Given the description of an element on the screen output the (x, y) to click on. 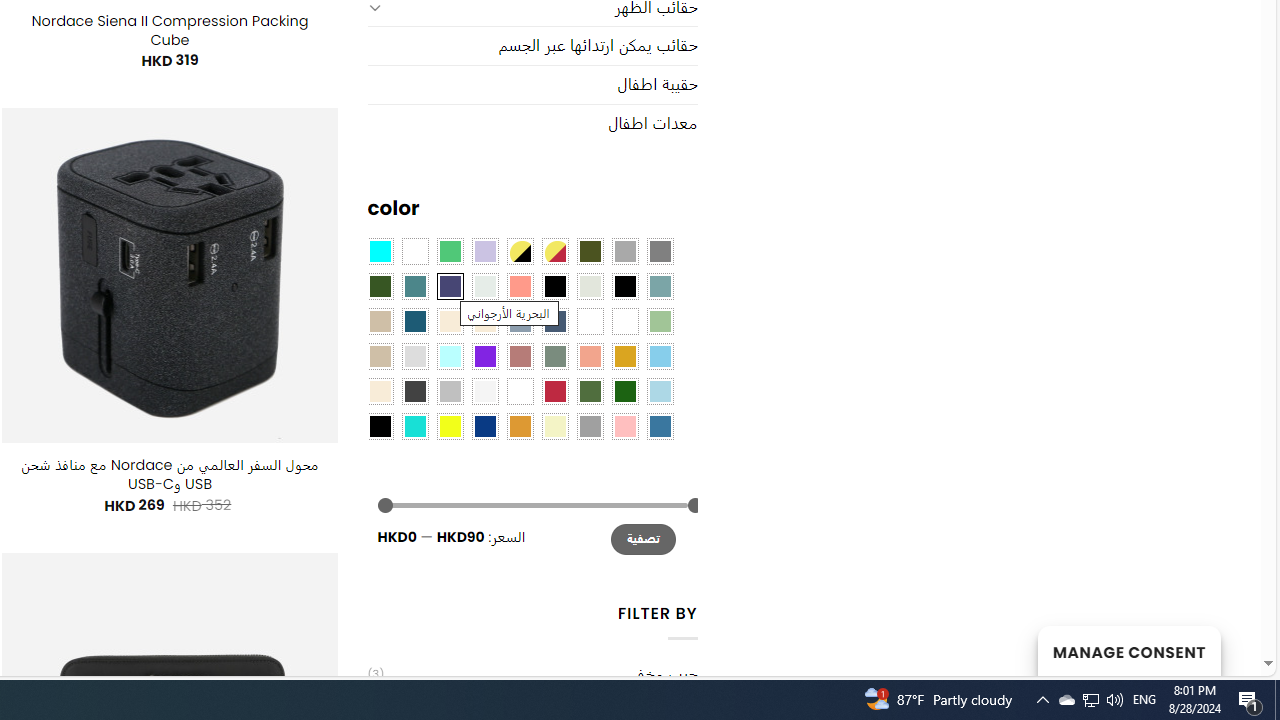
Emerald Green (449, 251)
MANAGE CONSENT (1128, 650)
Purple (484, 355)
Rose (519, 355)
Teal (414, 285)
